Given the description of an element on the screen output the (x, y) to click on. 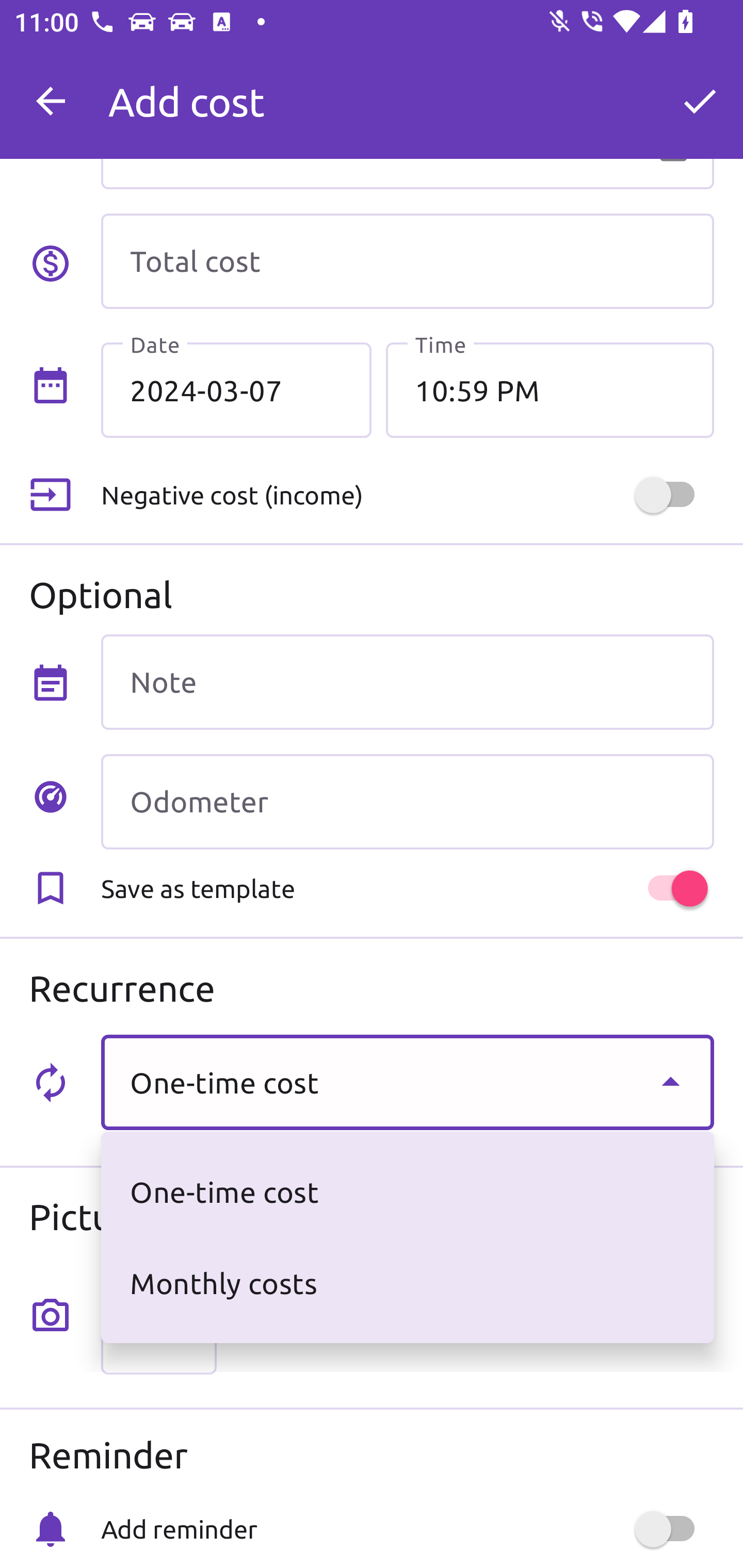
M My Car 0 km (407, 92)
Navigate up (50, 101)
OK (699, 101)
Total cost  (407, 260)
2024-03-07 (236, 389)
10:59 PM (549, 389)
Negative cost (income) (407, 494)
Note (407, 682)
Odometer (407, 801)
Save as template (407, 887)
One-time cost (407, 1082)
Show dropdown menu (670, 1081)
Add reminder (407, 1529)
